Given the description of an element on the screen output the (x, y) to click on. 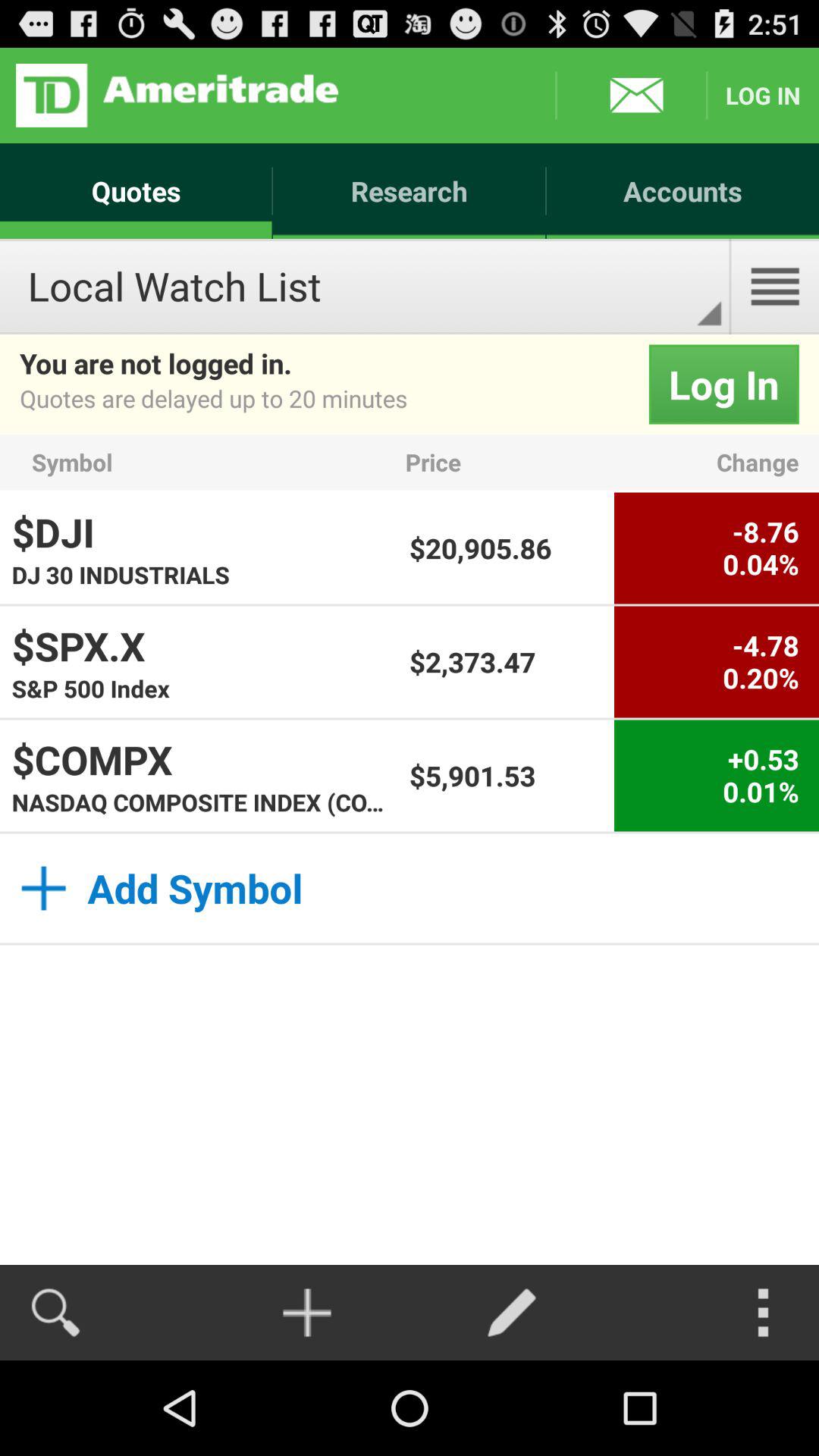
open messages (631, 95)
